Given the description of an element on the screen output the (x, y) to click on. 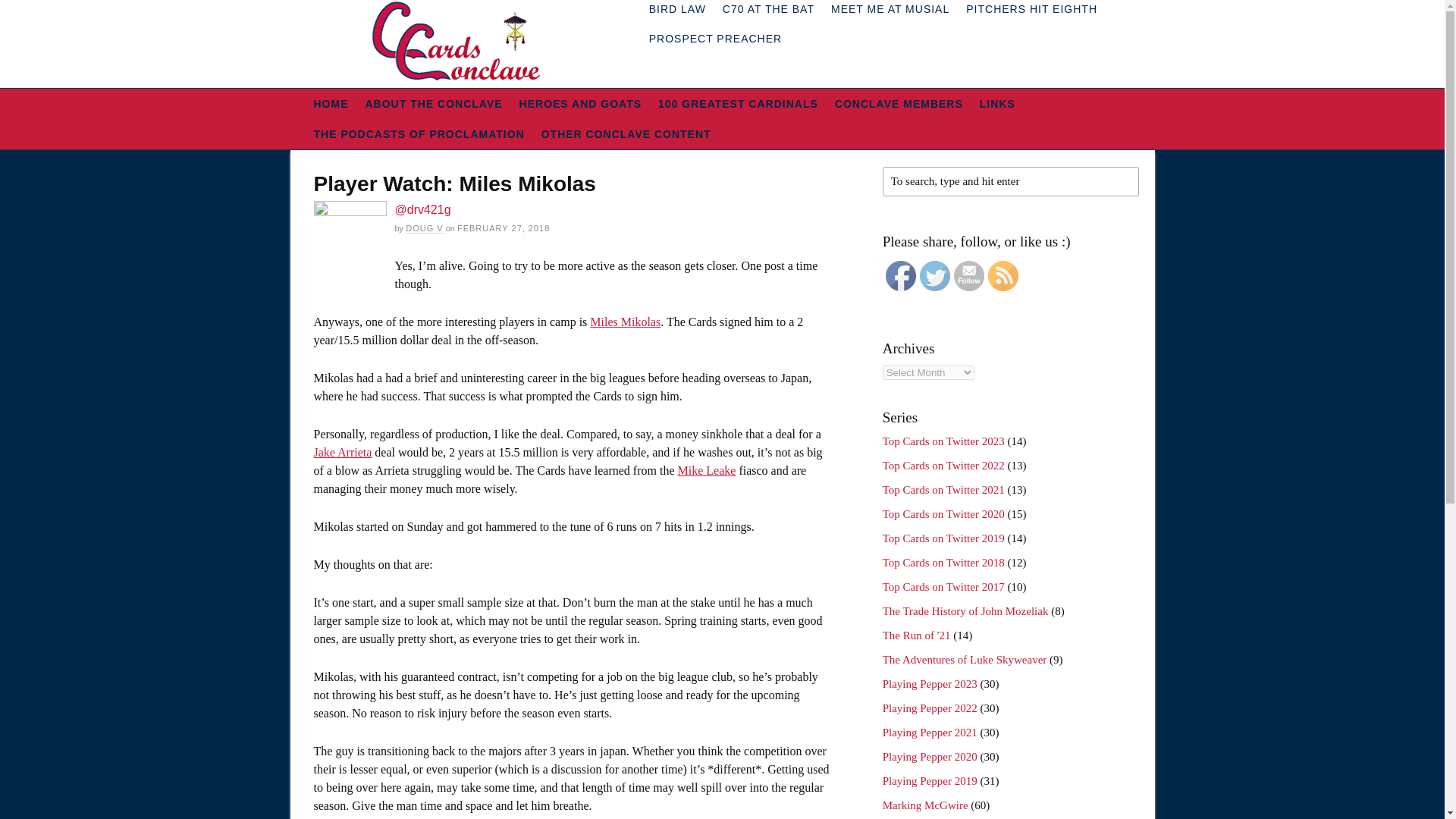
C70 AT THE BAT (768, 12)
Facebook (900, 276)
ABOUT THE CONCLAVE (433, 103)
Jake Arrieta (343, 451)
HOME (330, 103)
Follow by Email (968, 276)
OTHER CONCLAVE CONTENT (625, 133)
MEET ME AT MUSIAL (890, 12)
DOUG V (424, 228)
THE PODCASTS OF PROCLAMATION (418, 133)
